Given the description of an element on the screen output the (x, y) to click on. 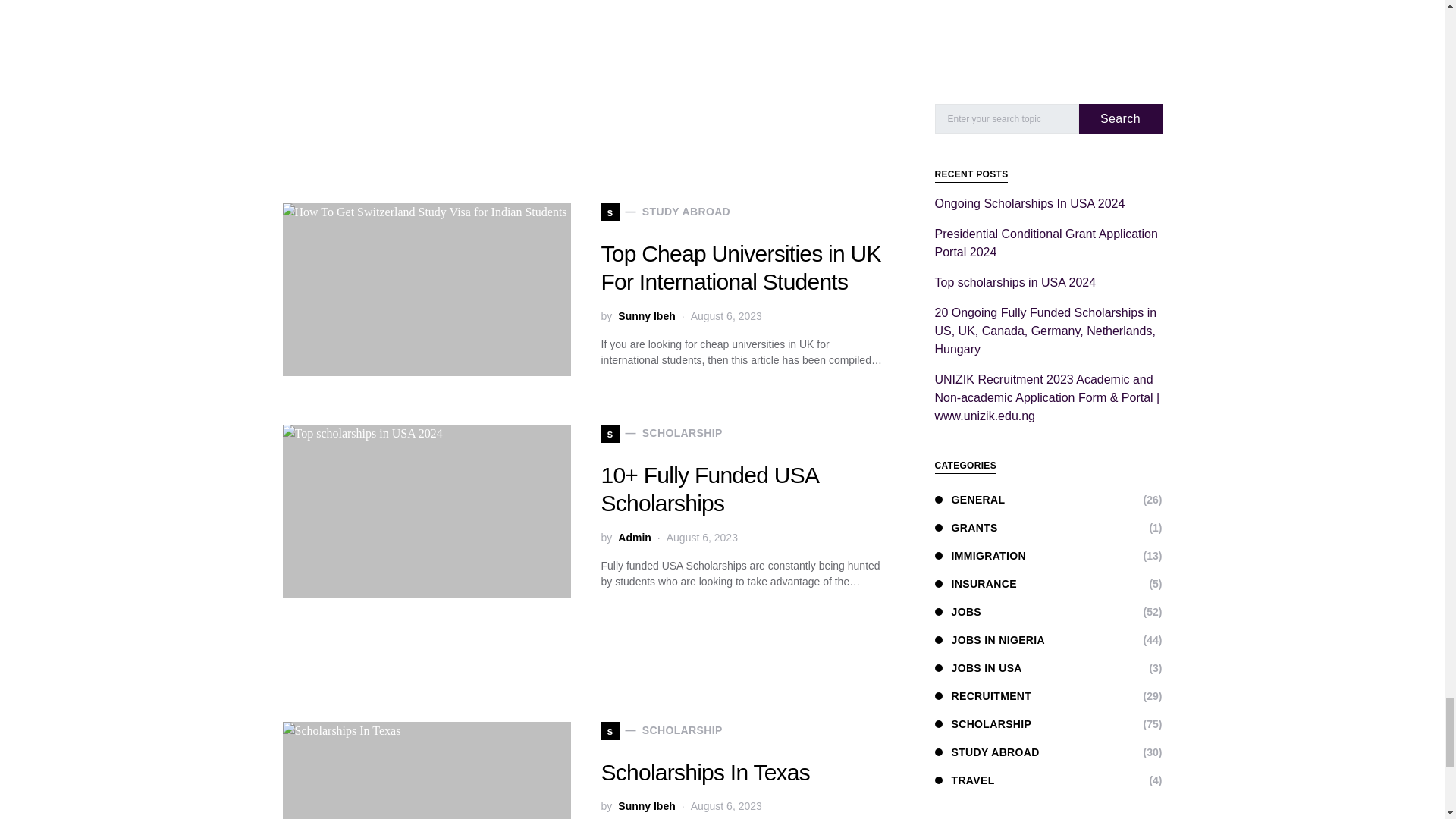
View all posts by Sunny Ibeh (646, 806)
View all posts by Admin (633, 537)
View all posts by Sunny Ibeh (646, 316)
